Given the description of an element on the screen output the (x, y) to click on. 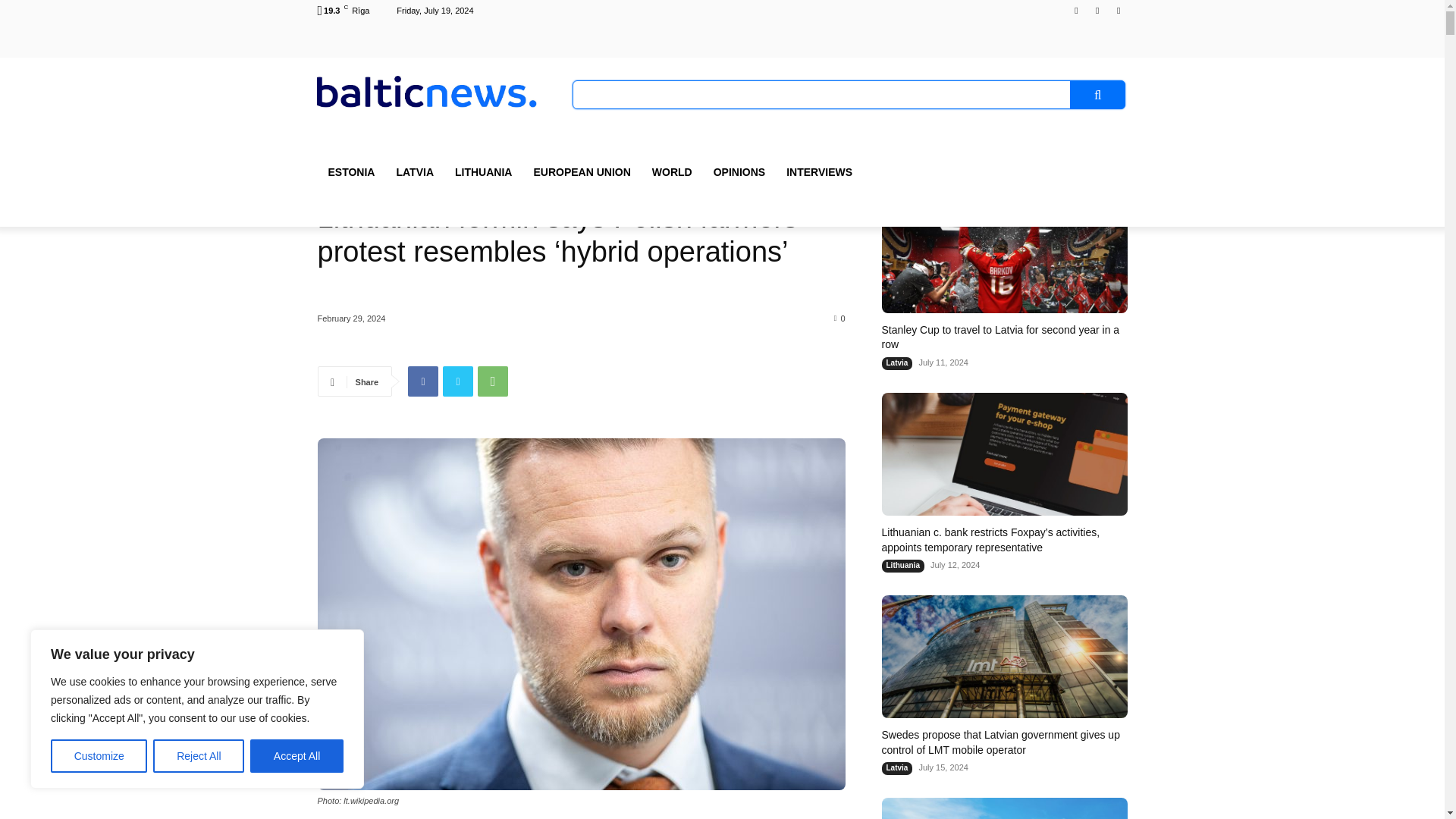
RSS (1097, 9)
baltic news (425, 91)
Facebook (422, 381)
View all posts in Lithuania (369, 23)
Accept All (296, 756)
Reject All (198, 756)
baltic news (425, 91)
Twitter (1117, 9)
INTERVIEWS (819, 171)
Twitter (457, 381)
Facebook (1075, 9)
Search (1097, 94)
EUROPEAN UNION (581, 171)
ESTONIA (351, 171)
WORLD (672, 171)
